Given the description of an element on the screen output the (x, y) to click on. 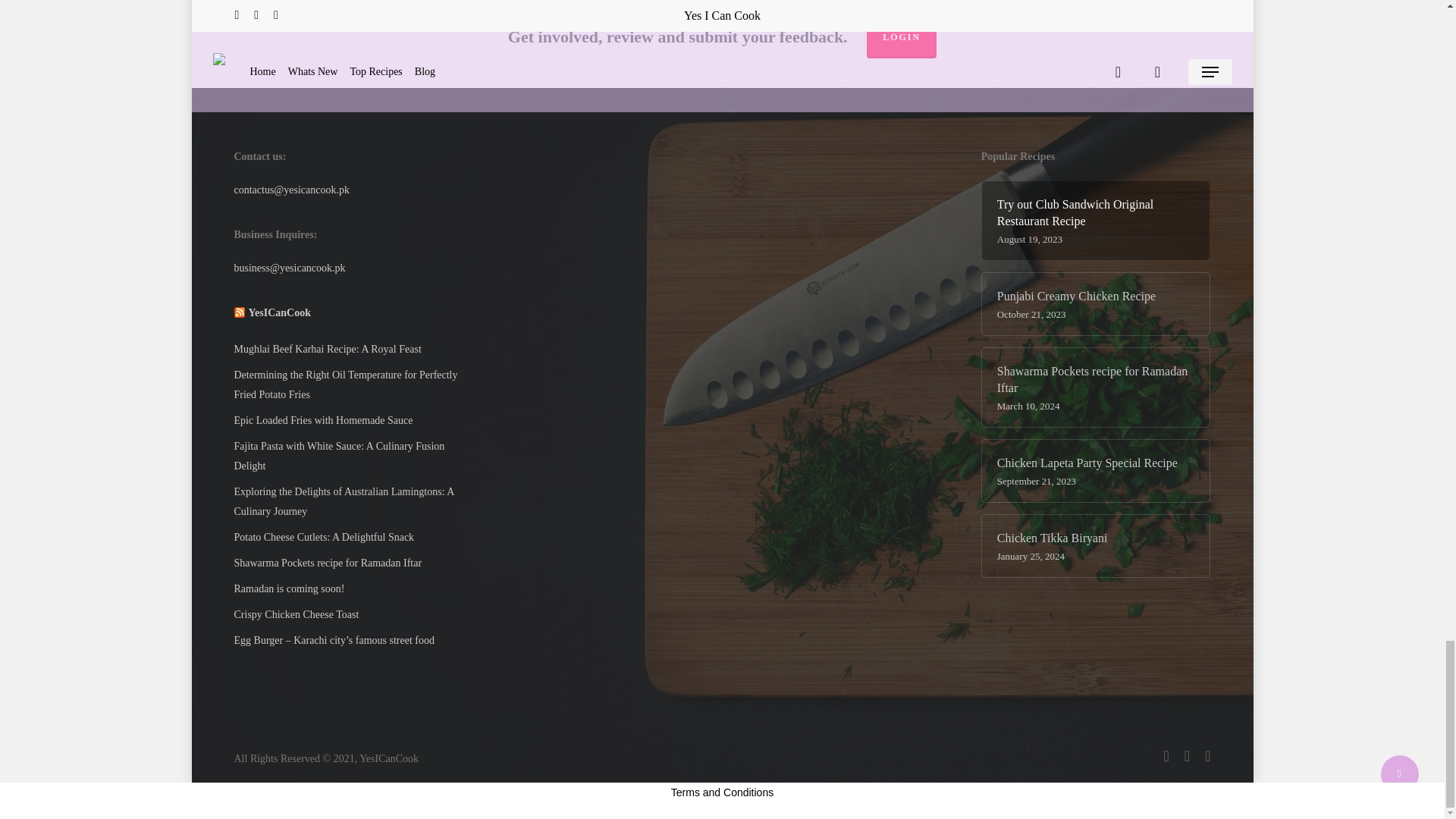
LOGIN (901, 36)
YesICanCook (278, 312)
